Given the description of an element on the screen output the (x, y) to click on. 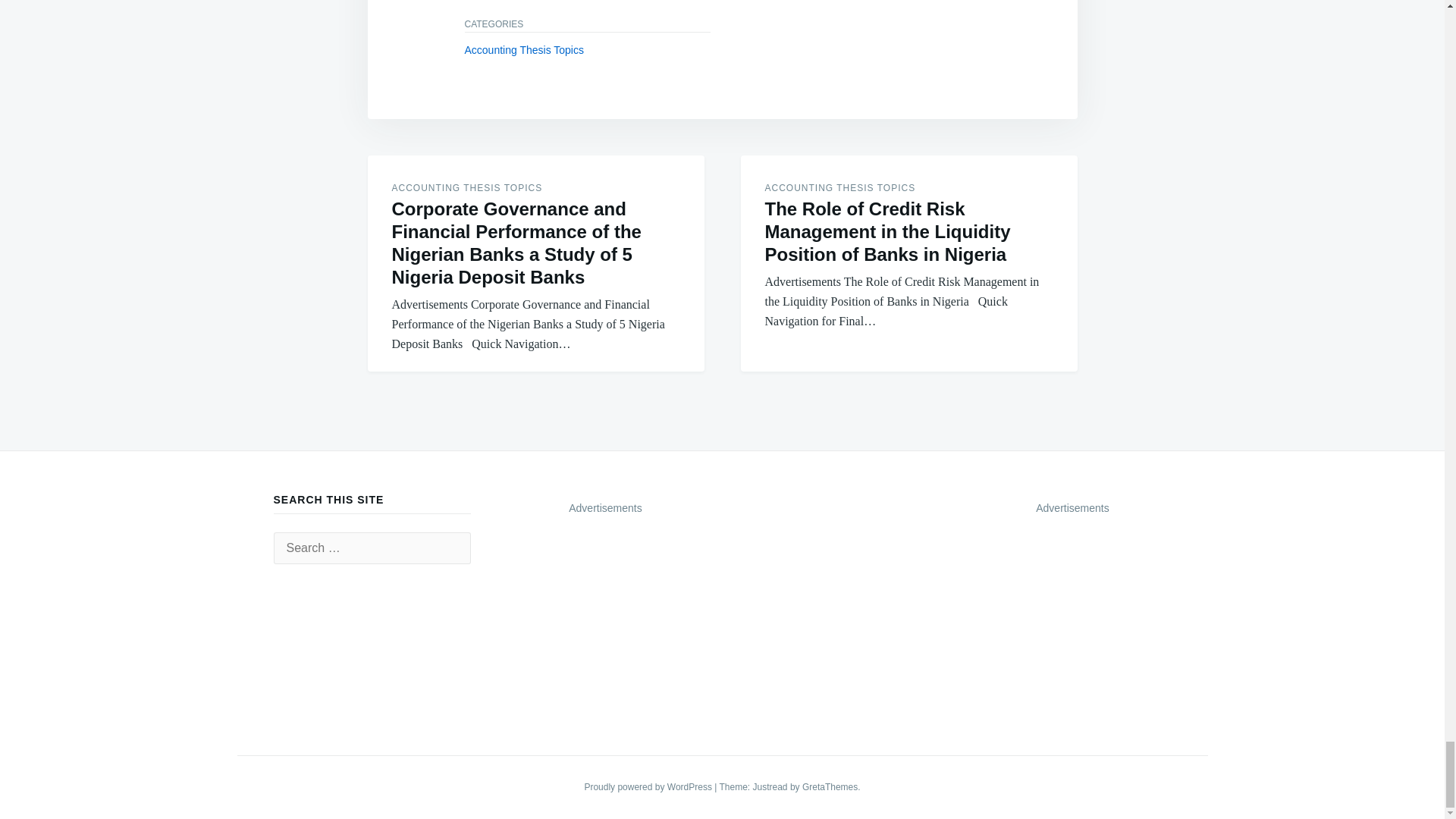
ACCOUNTING THESIS TOPICS (839, 187)
ACCOUNTING THESIS TOPICS (466, 187)
Accounting Thesis Topics (523, 50)
Proudly powered by WordPress (648, 787)
GretaThemes (829, 787)
